Given the description of an element on the screen output the (x, y) to click on. 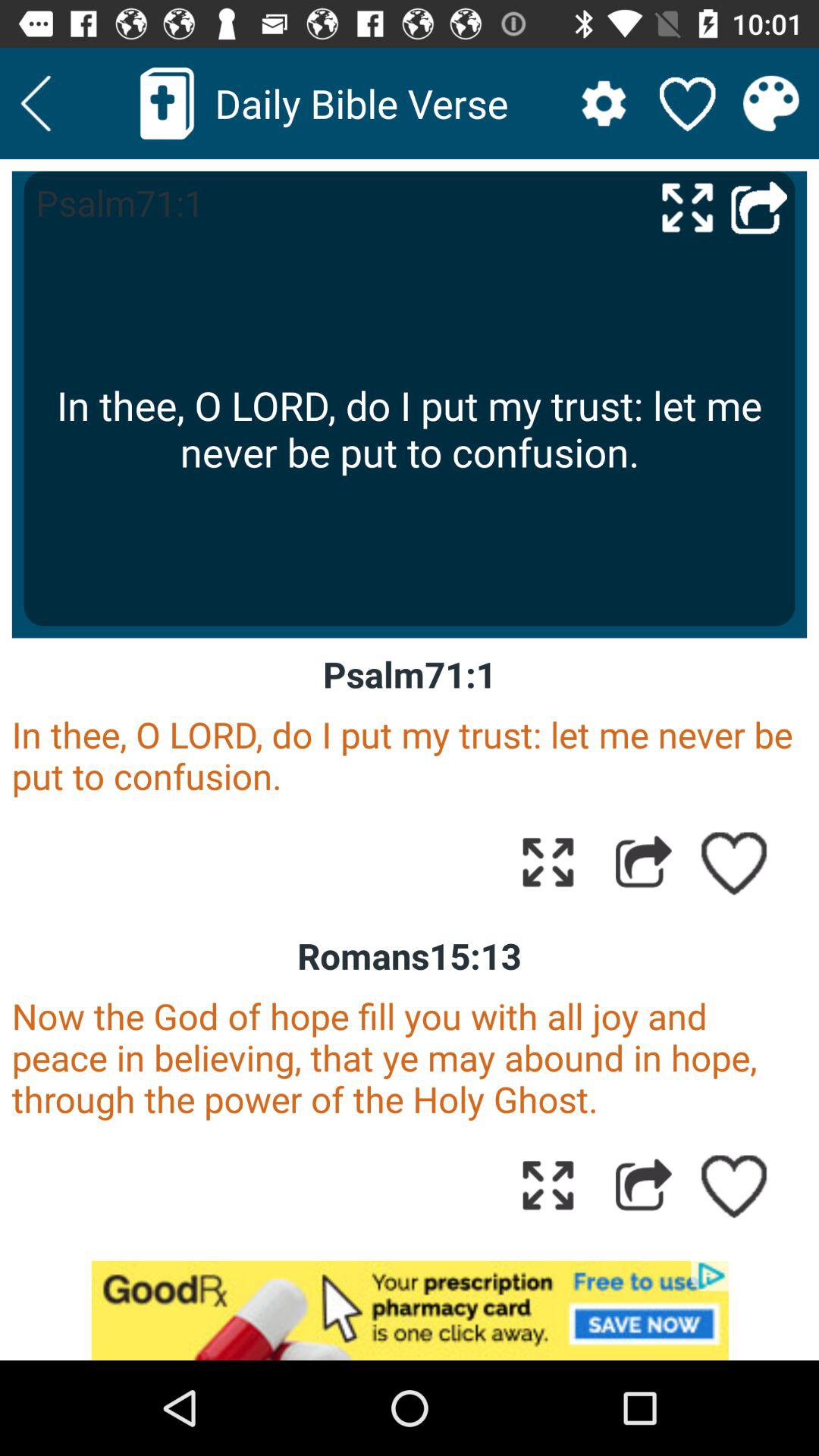
like (735, 1184)
